Given the description of an element on the screen output the (x, y) to click on. 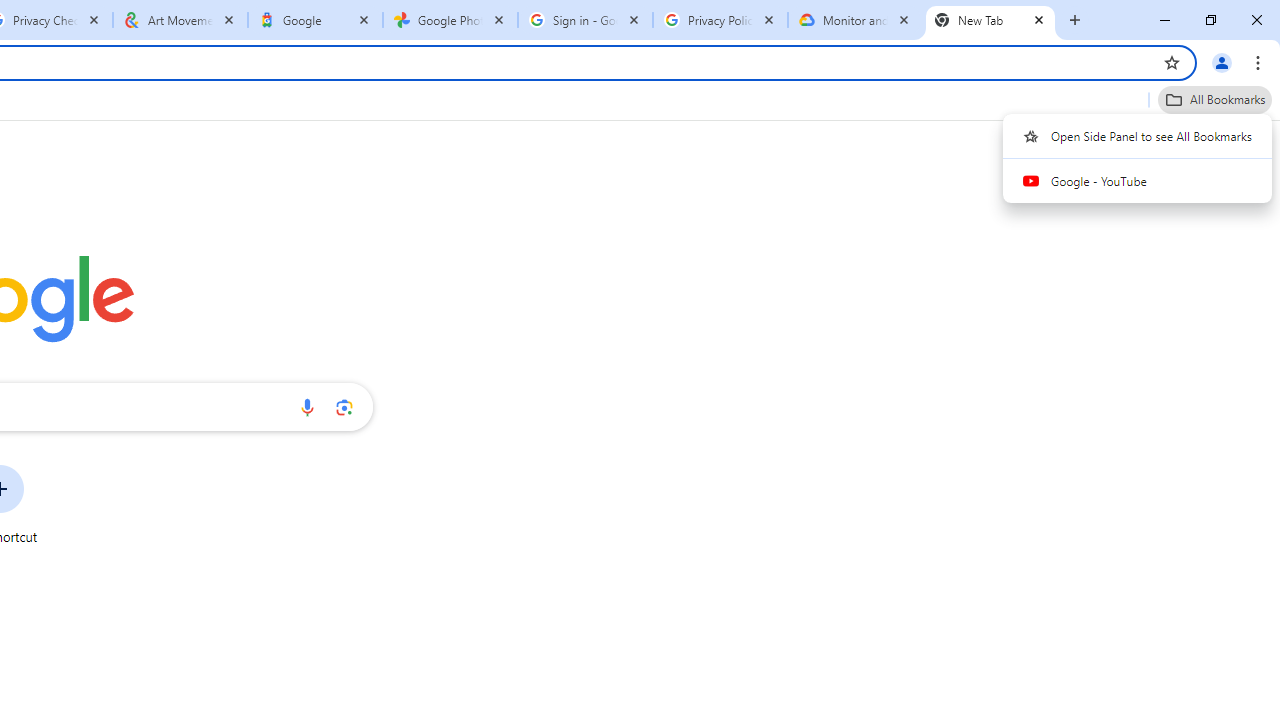
New Tab (990, 20)
Open Side Panel to see All Bookmarks (1137, 135)
Sign in - Google Accounts (585, 20)
